Given the description of an element on the screen output the (x, y) to click on. 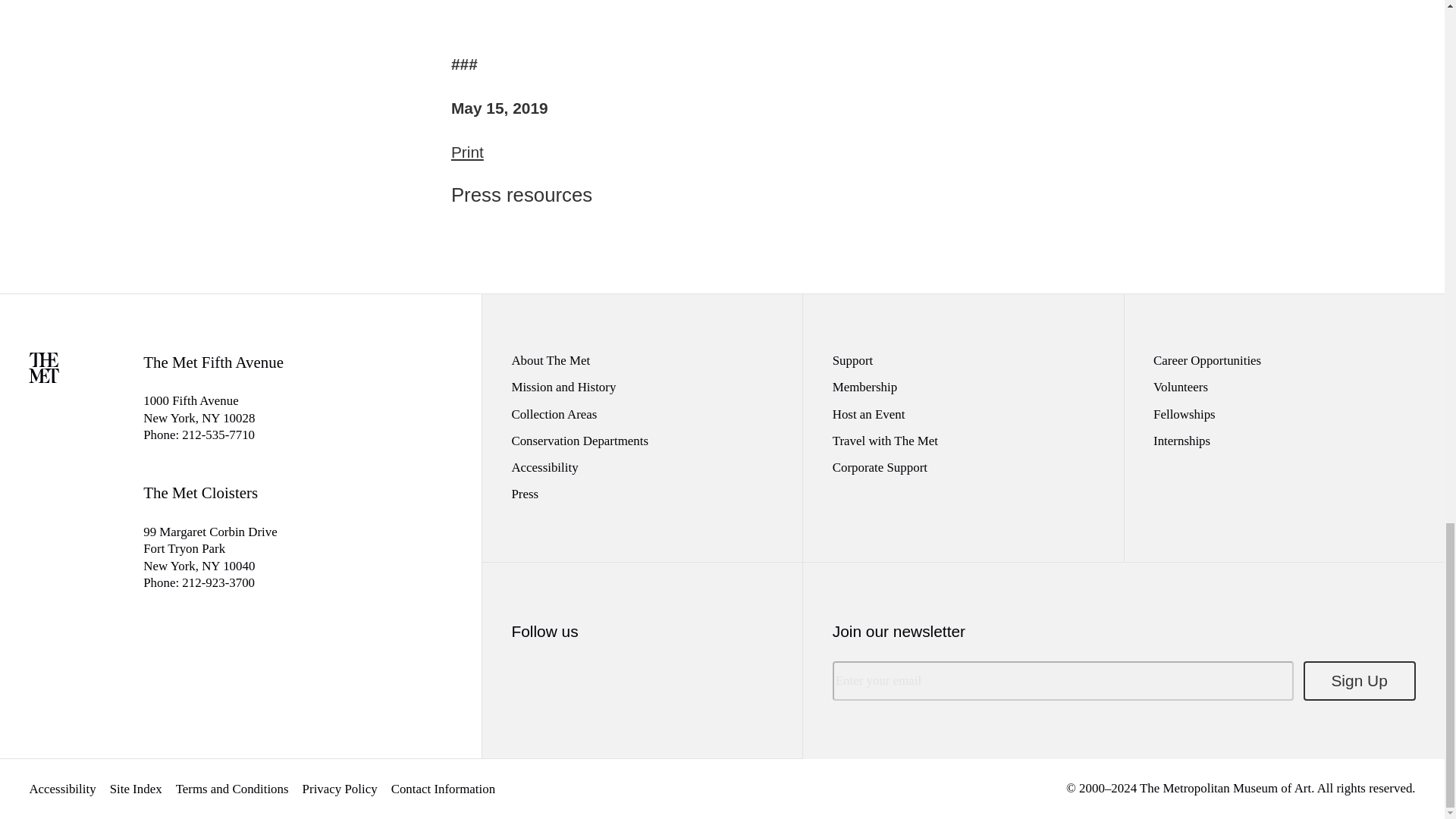
Homepage (44, 377)
